Given the description of an element on the screen output the (x, y) to click on. 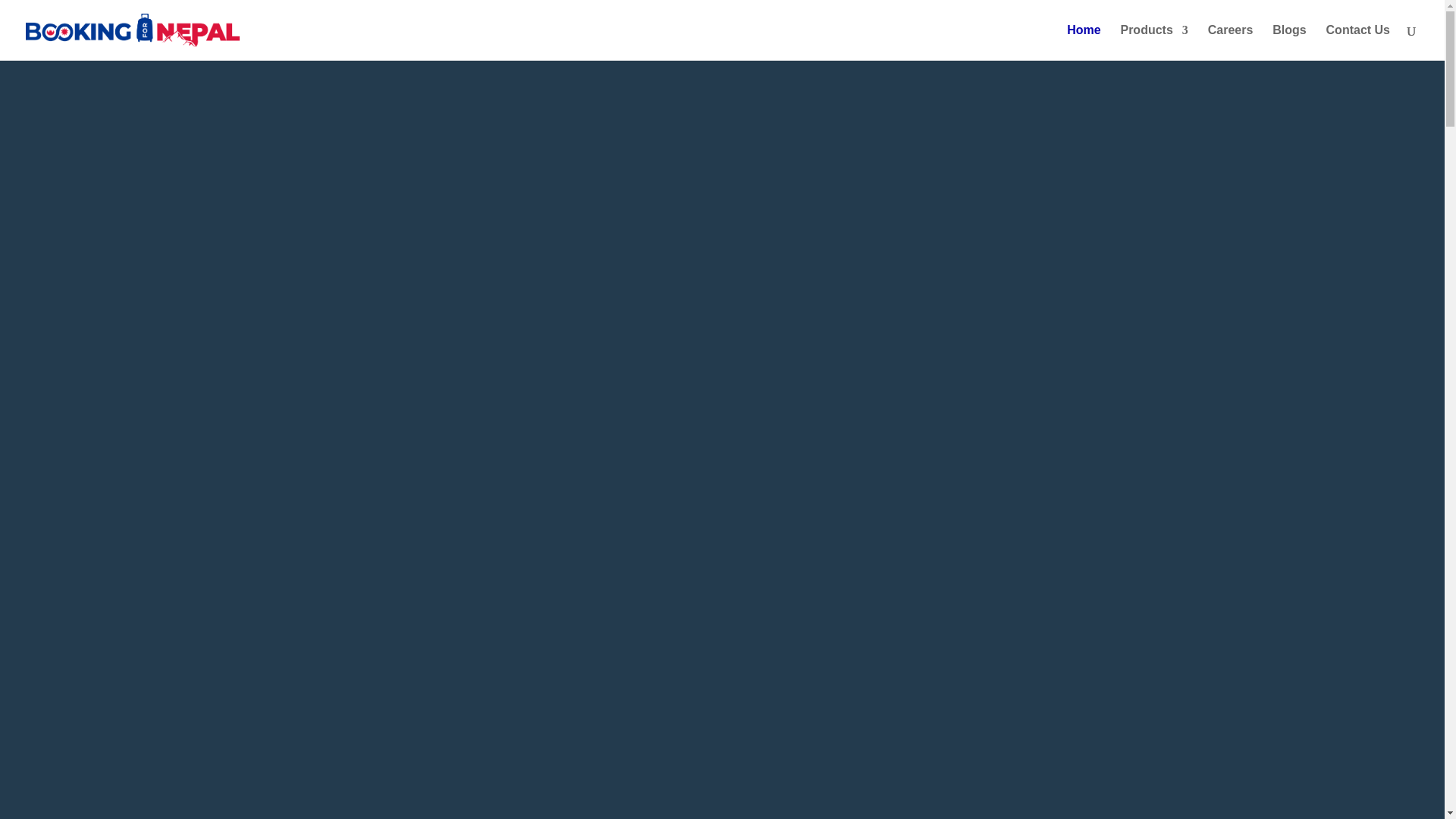
Home (1083, 42)
Blogs (1289, 42)
Products (1153, 42)
Contact Us (1358, 42)
Careers (1230, 42)
